Given the description of an element on the screen output the (x, y) to click on. 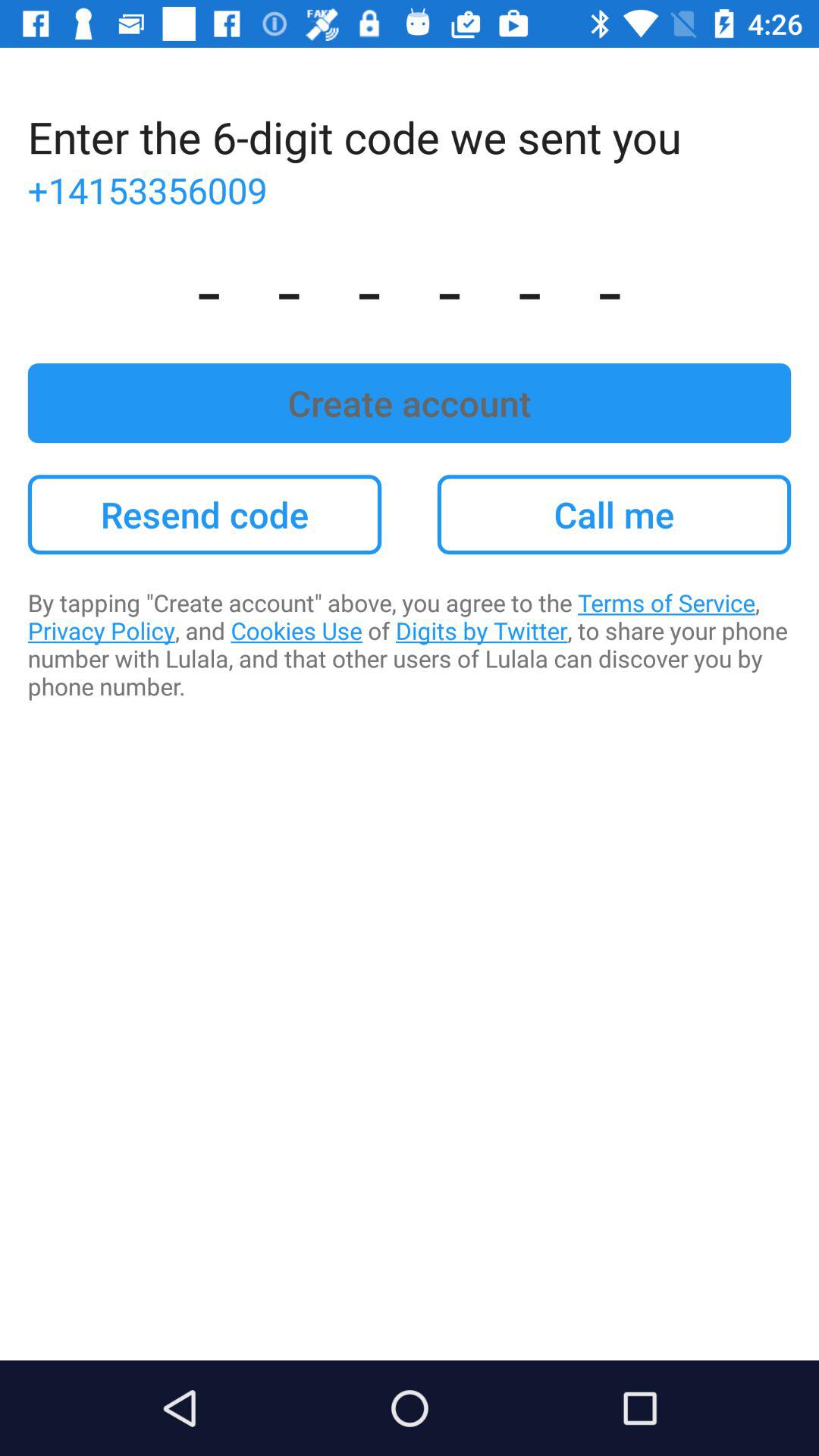
turn on - - - - - - item (409, 288)
